Given the description of an element on the screen output the (x, y) to click on. 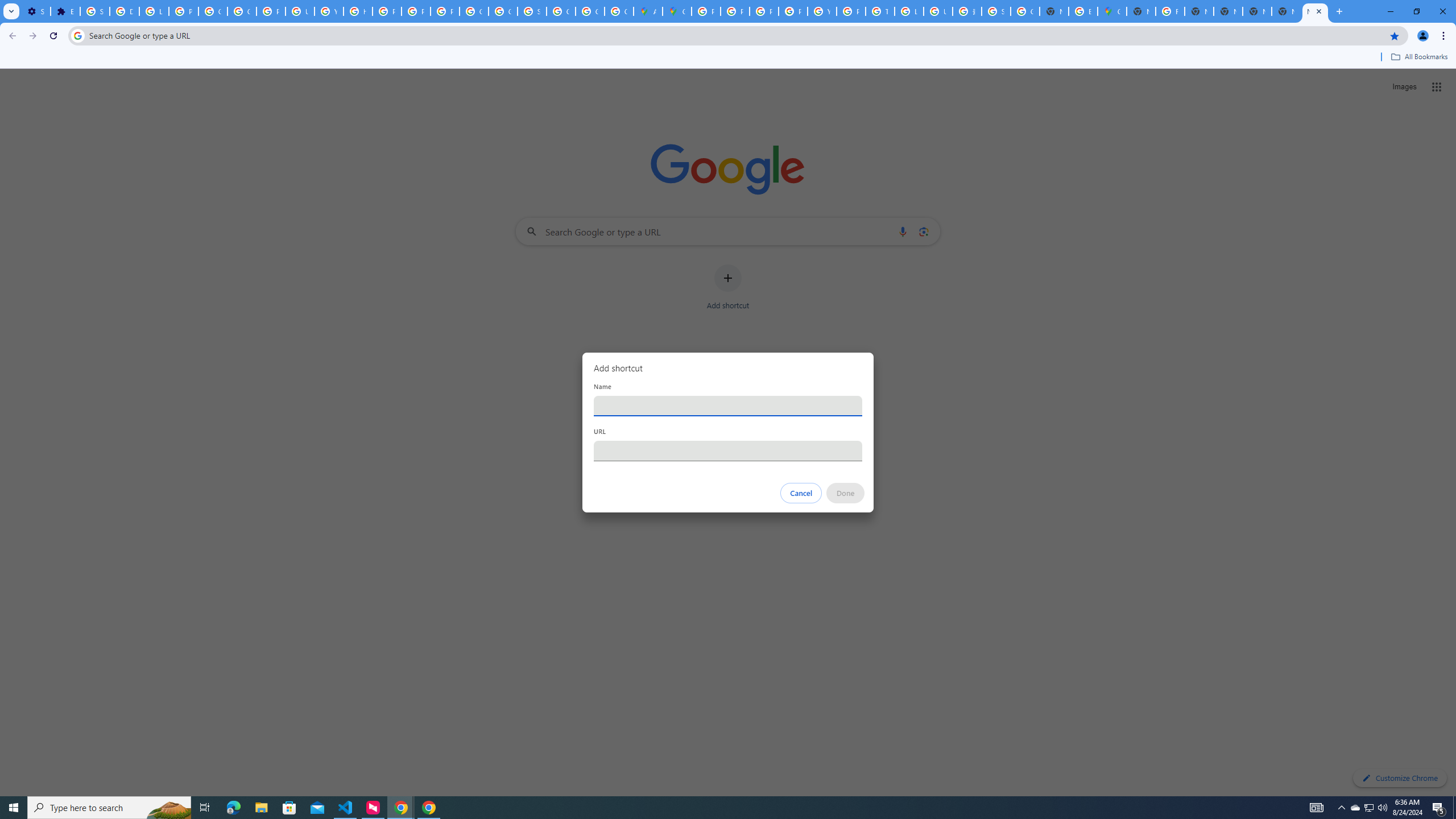
Sign in - Google Accounts (996, 11)
YouTube (327, 11)
URL (727, 450)
Google Maps (1111, 11)
